Given the description of an element on the screen output the (x, y) to click on. 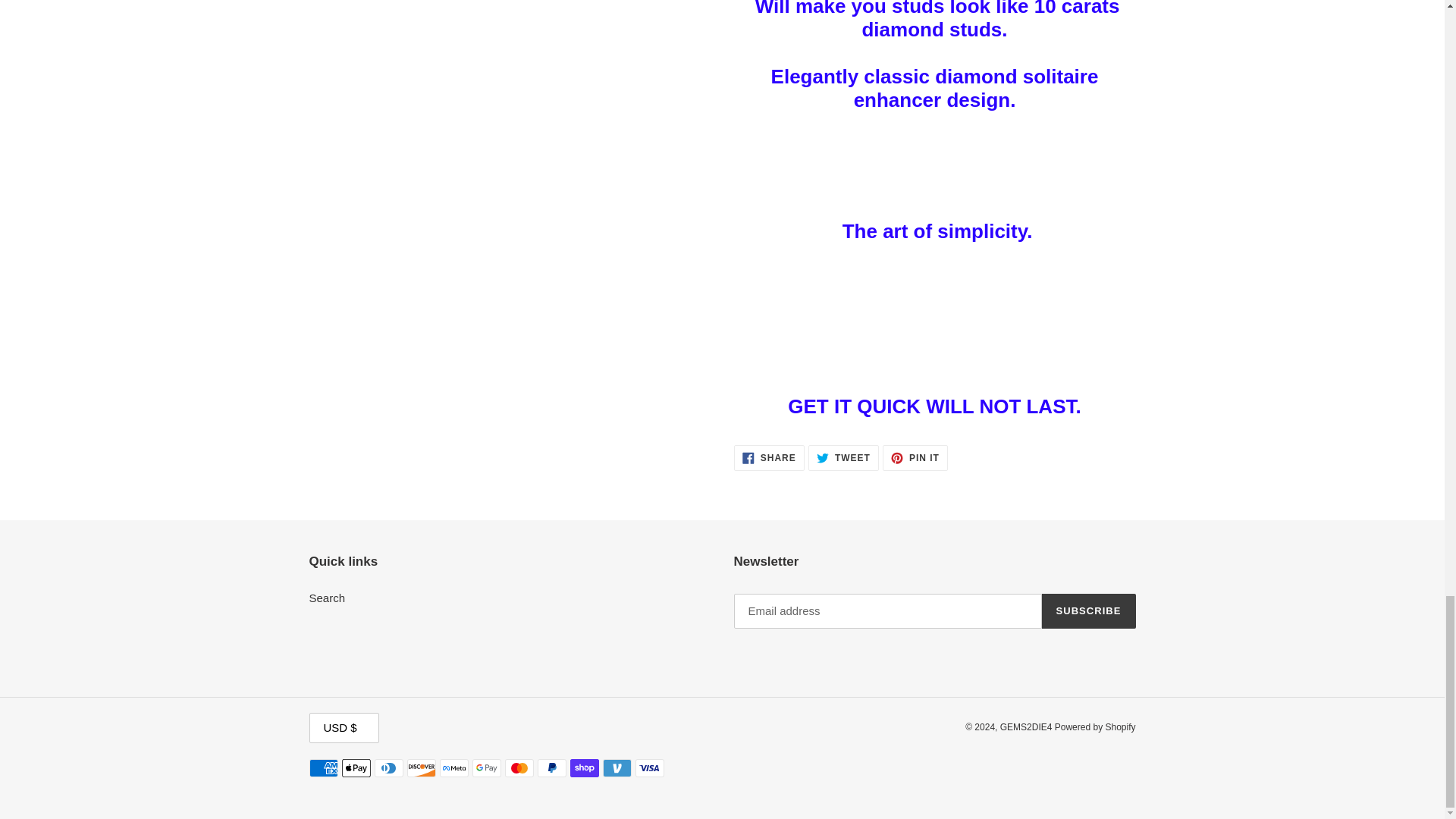
SUBSCRIBE (769, 457)
Search (914, 457)
